Given the description of an element on the screen output the (x, y) to click on. 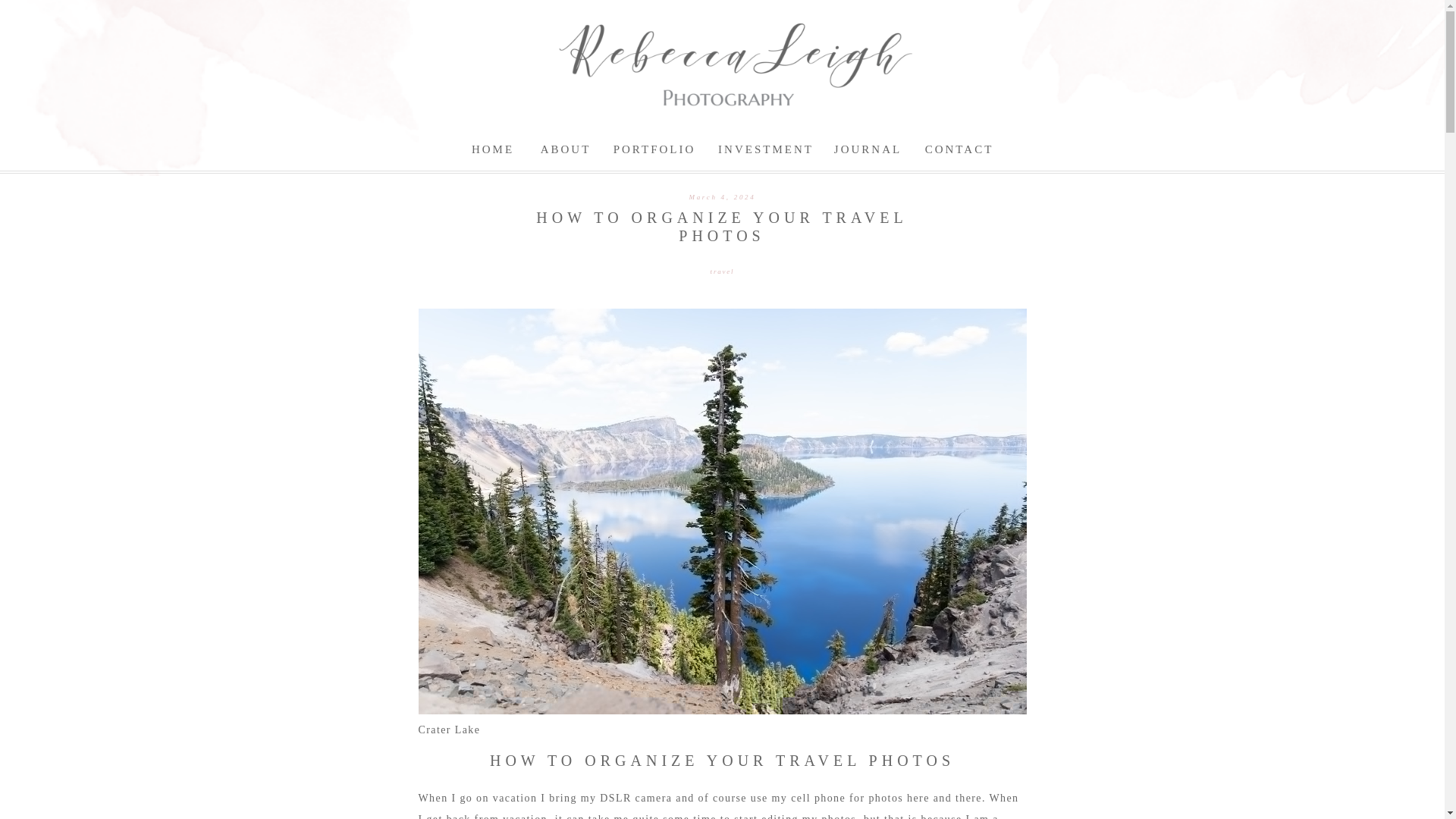
INVESTMENT (765, 148)
HOME (493, 152)
CONTACT (958, 149)
PORTFOLIO (654, 152)
travel (722, 271)
ABOUT (565, 145)
JOURNAL (868, 150)
